Given the description of an element on the screen output the (x, y) to click on. 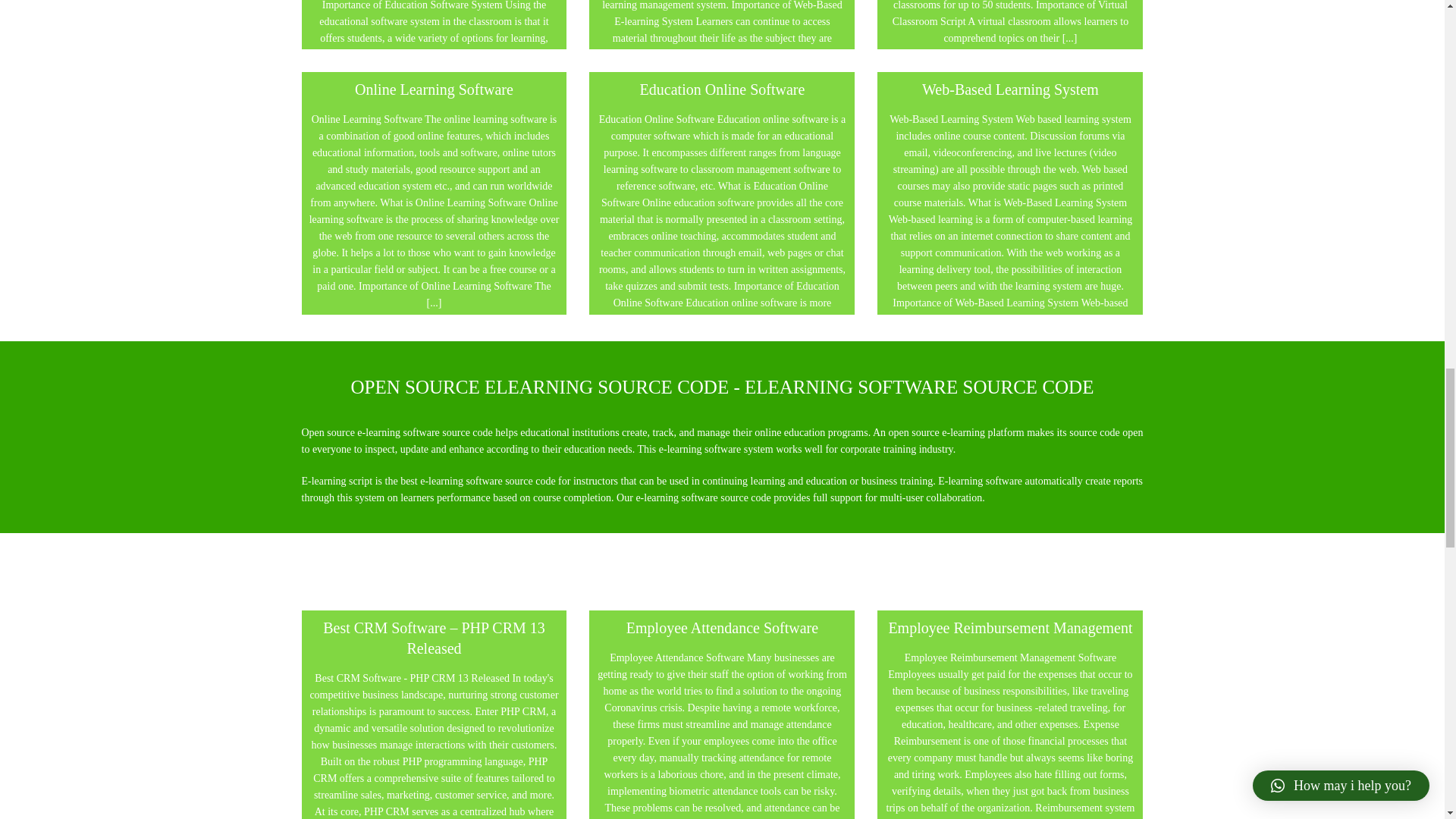
Virtual Classroom Script (1010, 21)
Online Learning Software (434, 193)
Virtual Classroom Script (1009, 24)
Education Software System (433, 29)
Web-Based E-Learning System (721, 38)
Web-Based E-Learning System (721, 24)
Education Software System (434, 24)
Online Learning Software (433, 210)
